Given the description of an element on the screen output the (x, y) to click on. 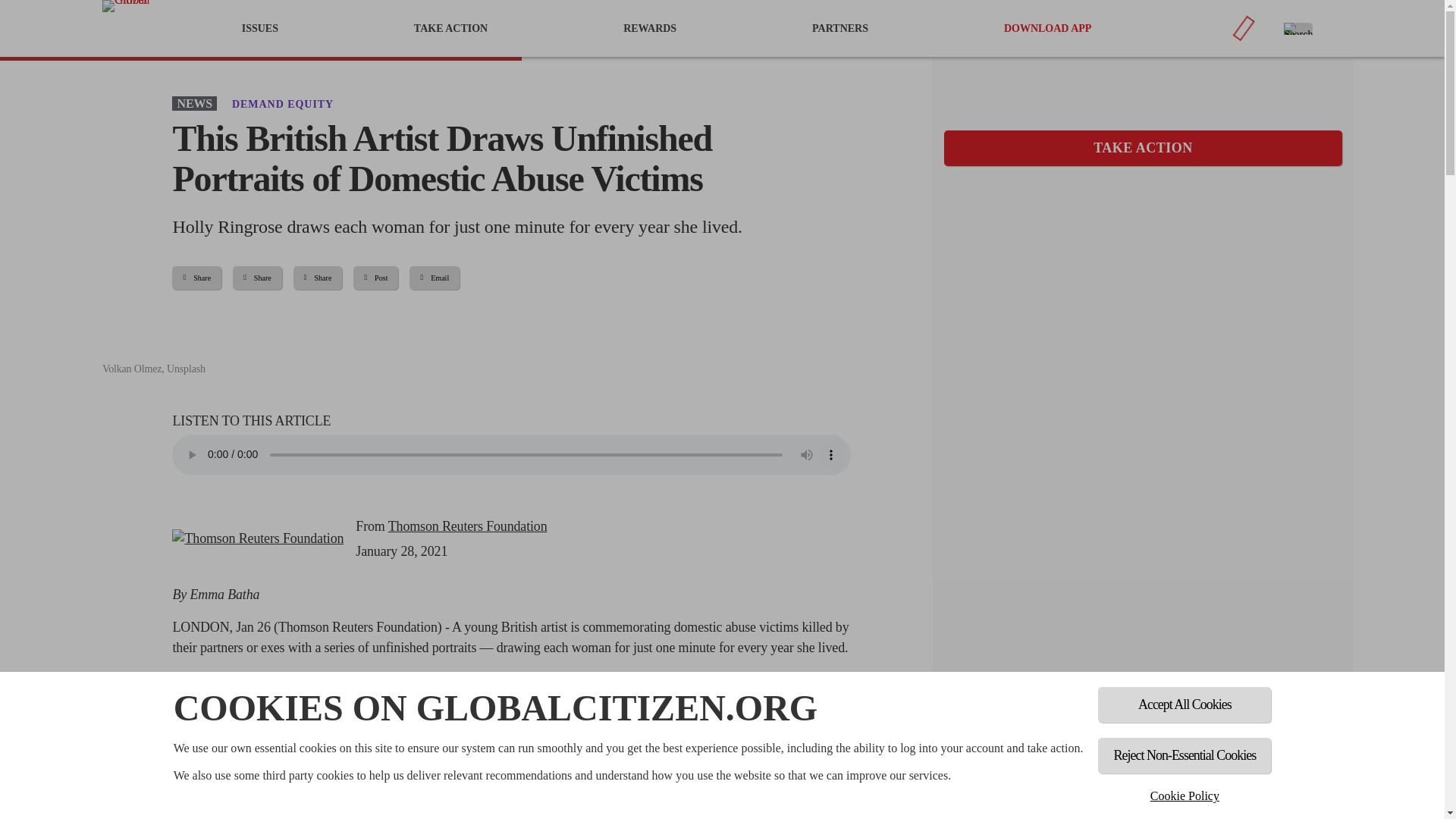
surge in domestic abuse (446, 801)
Thomson Reuters Foundation (257, 538)
Share (257, 277)
Demand Equity (282, 103)
TAKE ACTION (1142, 148)
Share (318, 277)
DEMAND EQUITY (282, 103)
Thomson Reuters Foundation (467, 525)
Email (434, 277)
ISSUES (259, 28)
Post (375, 277)
TAKE ACTION (451, 28)
PARTNERS (839, 28)
Share (196, 277)
